Given the description of an element on the screen output the (x, y) to click on. 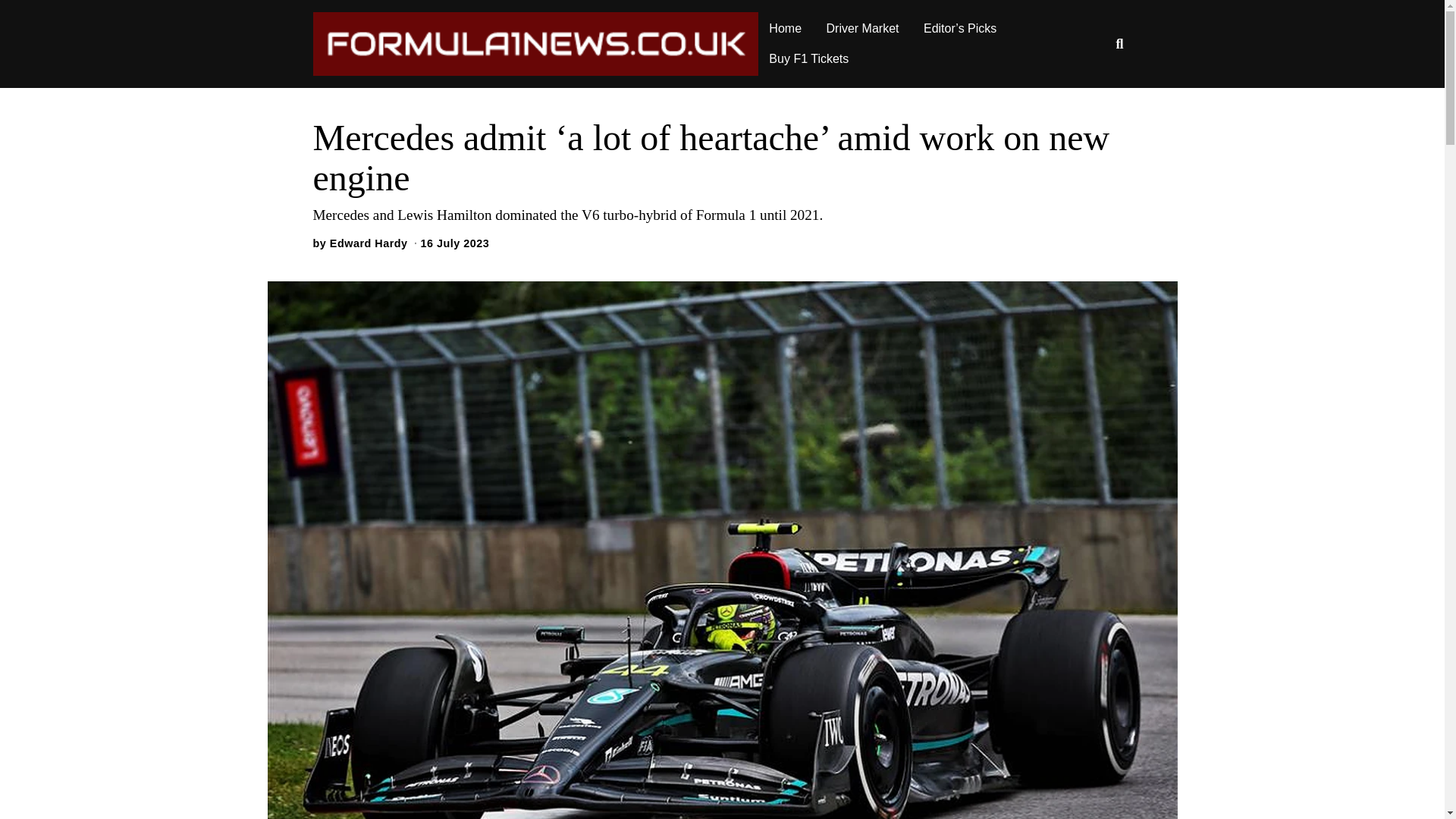
Buy F1 Tickets (808, 59)
Home (785, 28)
Driver Market (862, 28)
Edward Hardy (368, 243)
